Given the description of an element on the screen output the (x, y) to click on. 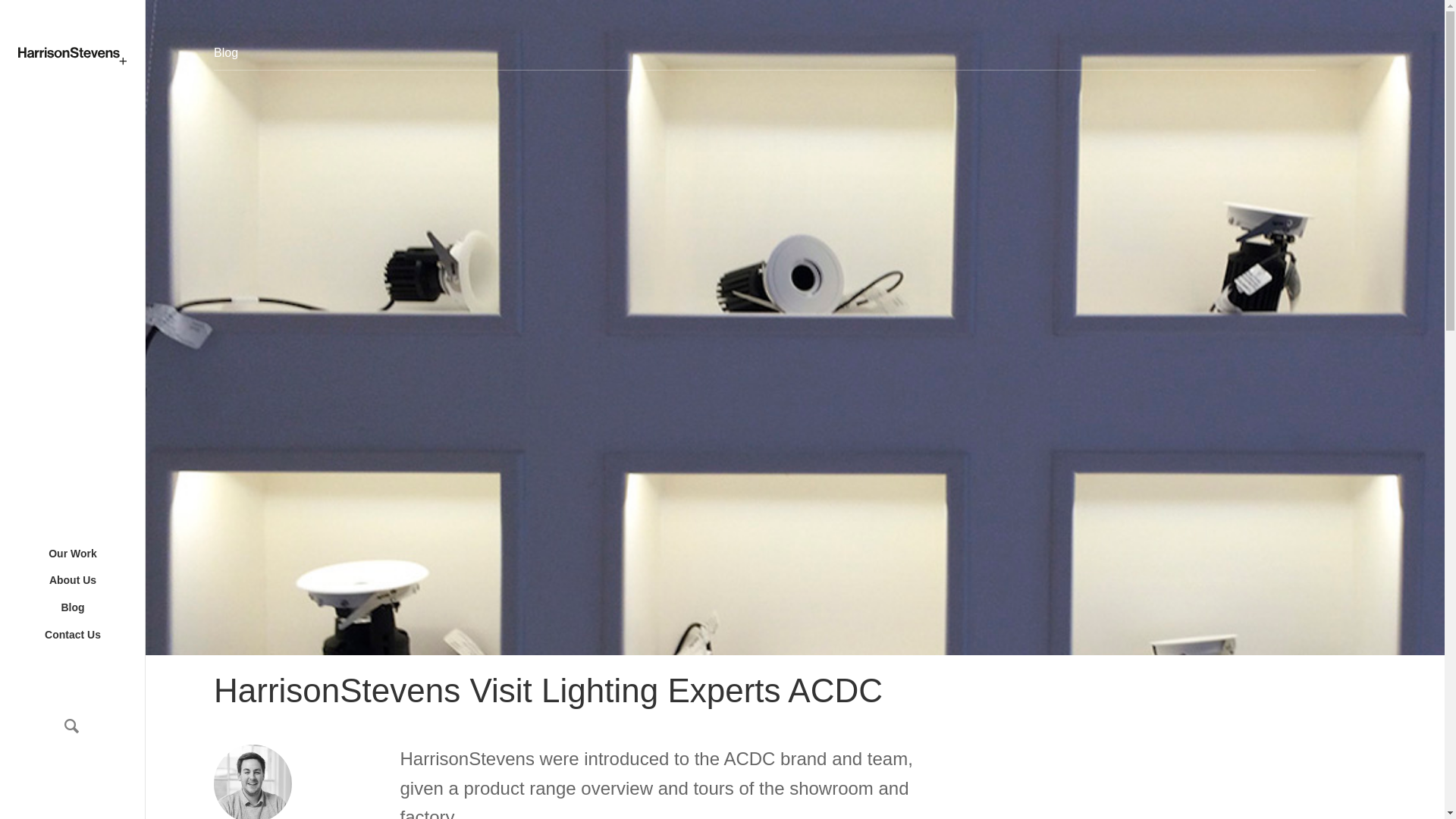
Terms and Conditions (1271, 733)
Sign up (1285, 470)
Our Work (72, 554)
Twitter (1261, 610)
Linkedin (1285, 610)
Harrison Stevens homepage (71, 55)
Contact Us (72, 635)
Facebook (1238, 610)
Sign up (1285, 470)
Blog (72, 607)
